Given the description of an element on the screen output the (x, y) to click on. 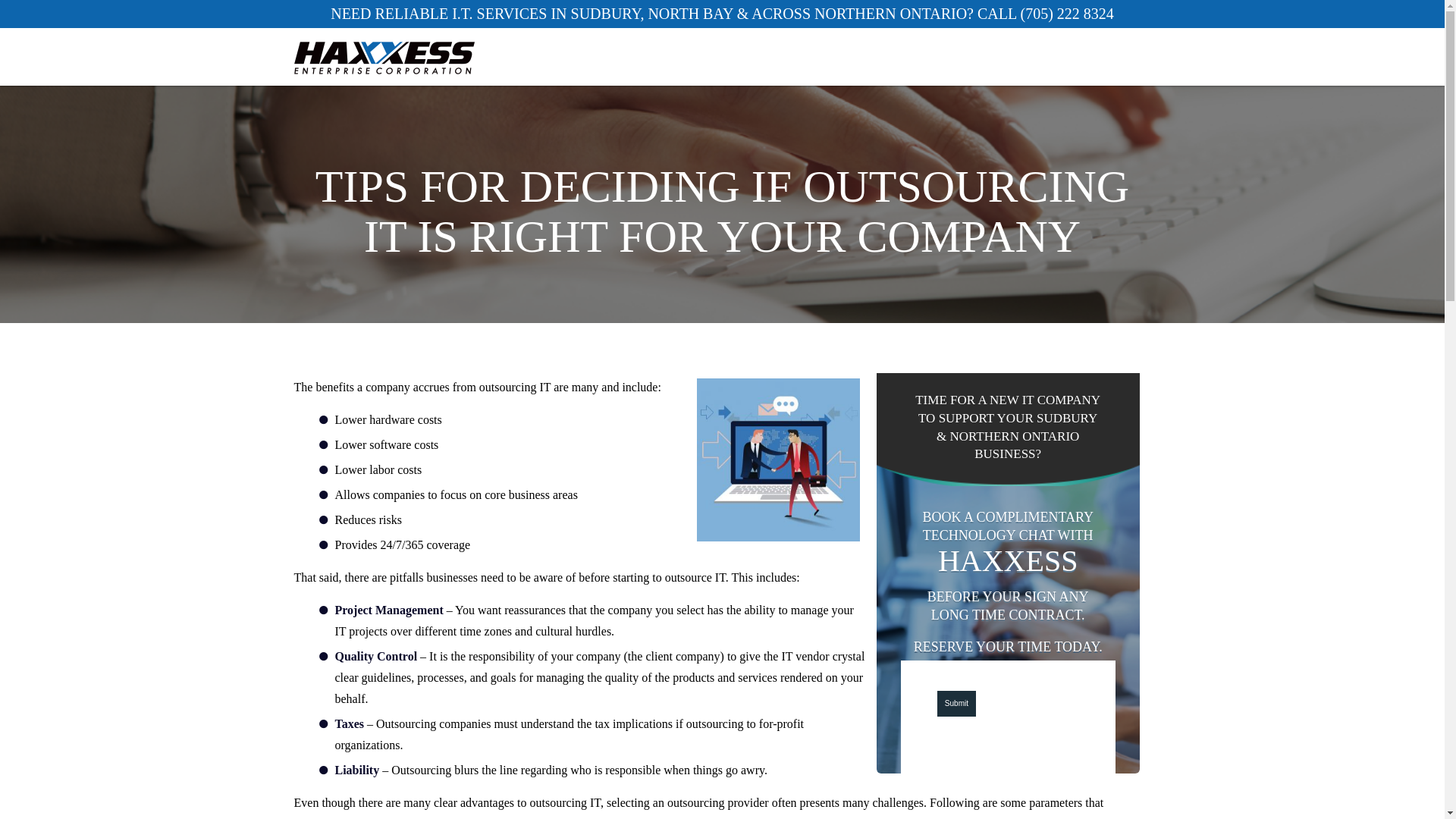
Submit (956, 702)
